Given the description of an element on the screen output the (x, y) to click on. 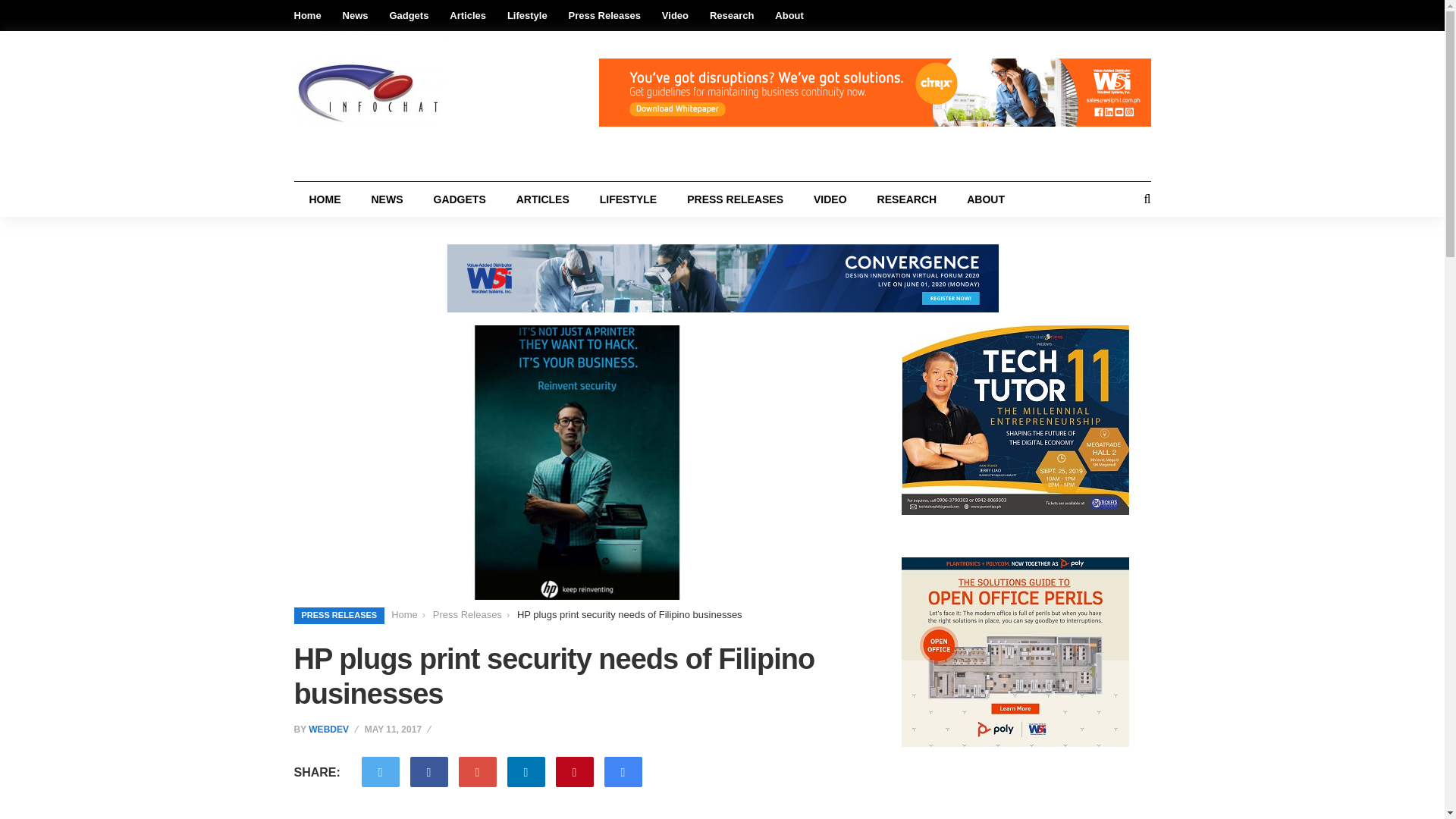
About (788, 15)
Thursday, May 11, 2017, 2:58 pm (399, 729)
Research (732, 15)
Video (675, 15)
Articles (467, 15)
Gadgets (408, 15)
Home (307, 15)
Press Releases (604, 15)
Lifestyle (526, 15)
News (355, 15)
